Given the description of an element on the screen output the (x, y) to click on. 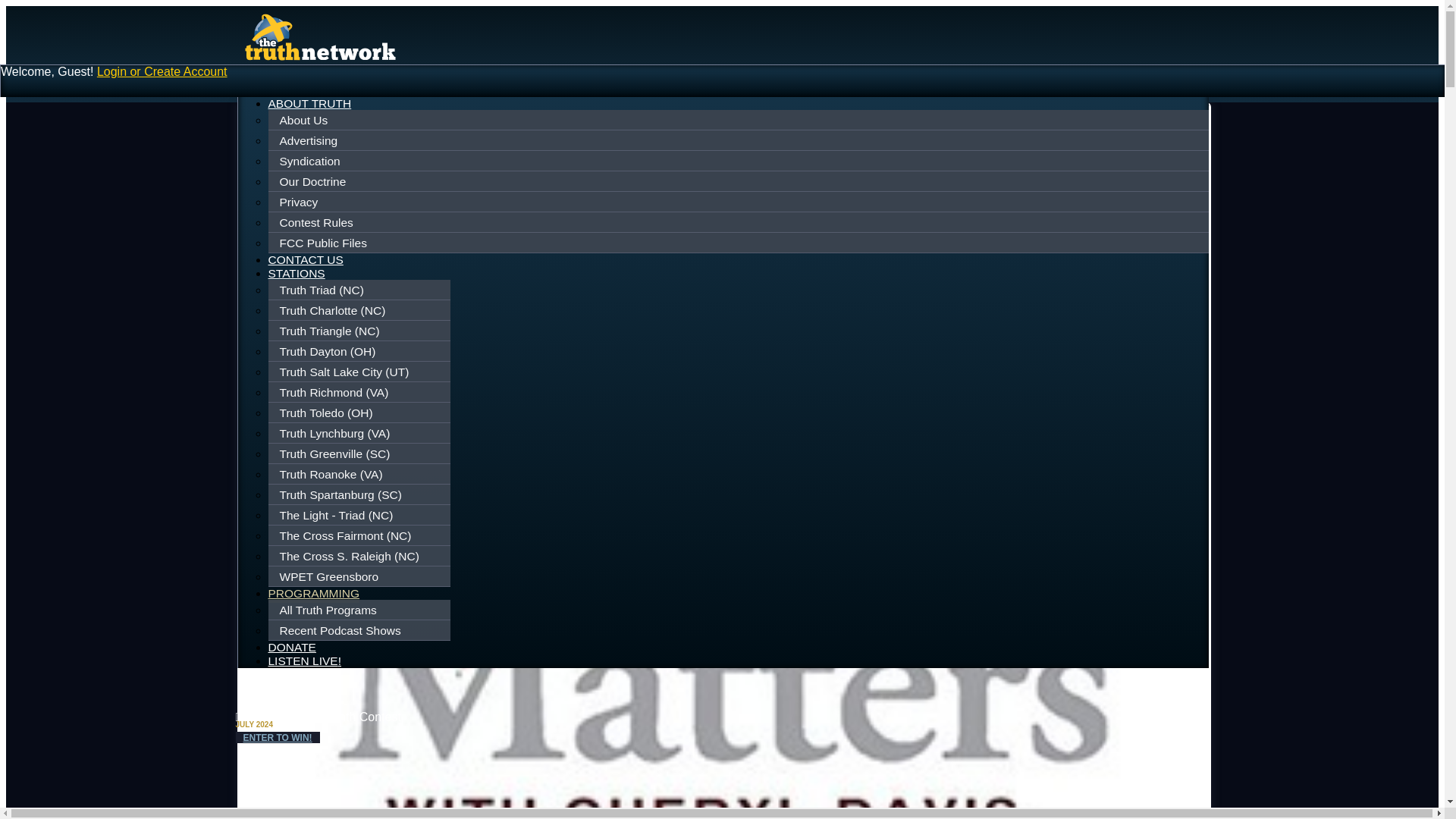
FCC Public Files (739, 243)
Privacy (739, 202)
PROGRAMMING (313, 594)
WPET Greensboro (360, 576)
About Us (739, 120)
Advertising (739, 140)
Our Doctrine (739, 181)
ABOUT TRUTH (309, 103)
STATIONS (295, 273)
HOME (285, 89)
Contest Rules (739, 222)
CONTACT US (305, 259)
Syndication (739, 161)
